Given the description of an element on the screen output the (x, y) to click on. 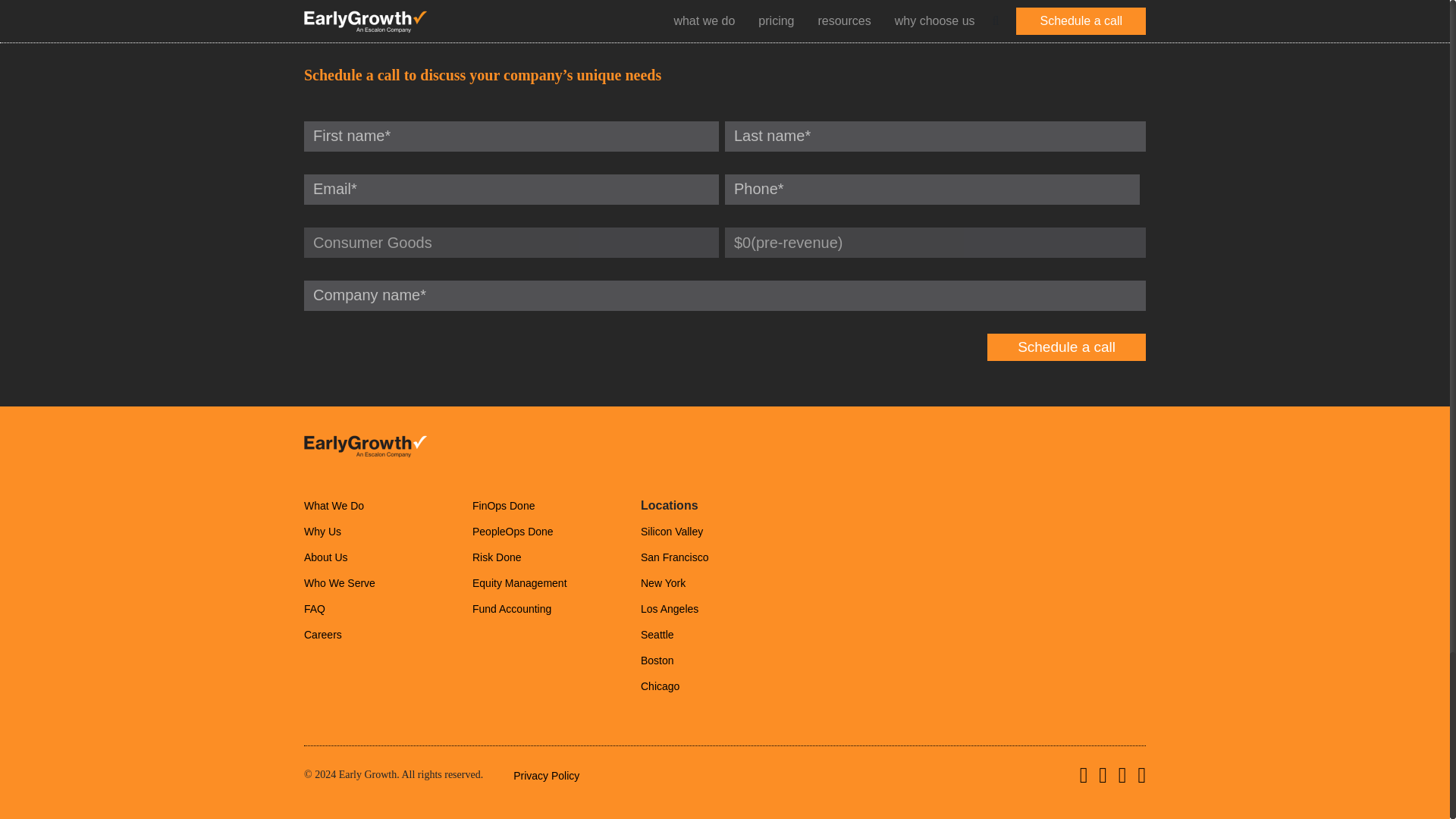
Schedule a call (1066, 347)
footer-logo (365, 445)
